Given the description of an element on the screen output the (x, y) to click on. 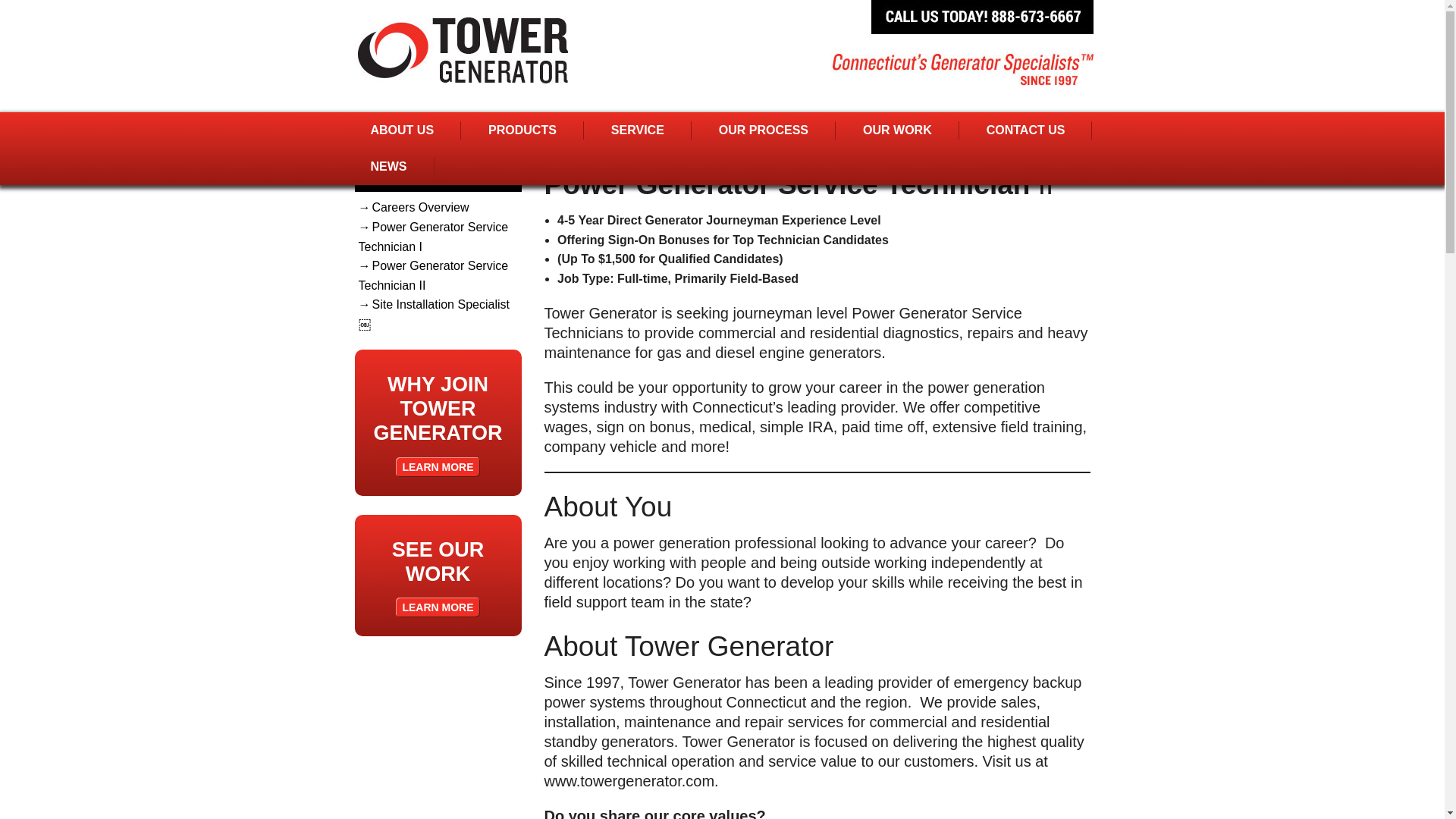
OUR PROCESS (763, 130)
Careers Overview (413, 206)
LEARN MORE (437, 466)
ADDITIONAL SERVICES (729, 166)
PRODUCTS (522, 130)
81-POINT SERVICE PROGRAM (212, 166)
LEARN MORE (437, 607)
MAINTENANCE (56, 166)
Power Generator Service Technician II (433, 275)
CONTACT US (1026, 130)
